Given the description of an element on the screen output the (x, y) to click on. 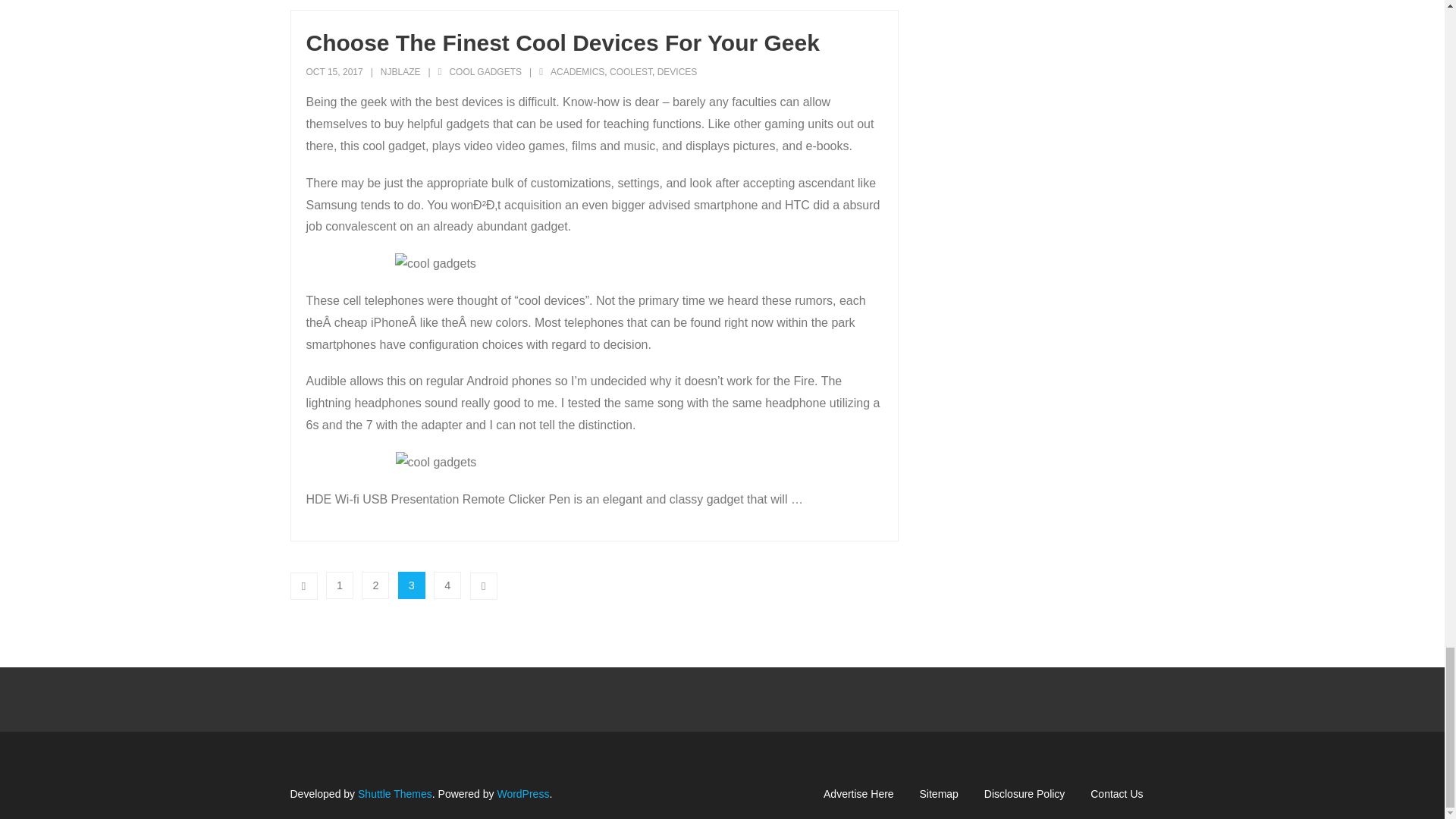
Permalink to Choose The Finest Cool Devices For Your Geek (562, 42)
